Given the description of an element on the screen output the (x, y) to click on. 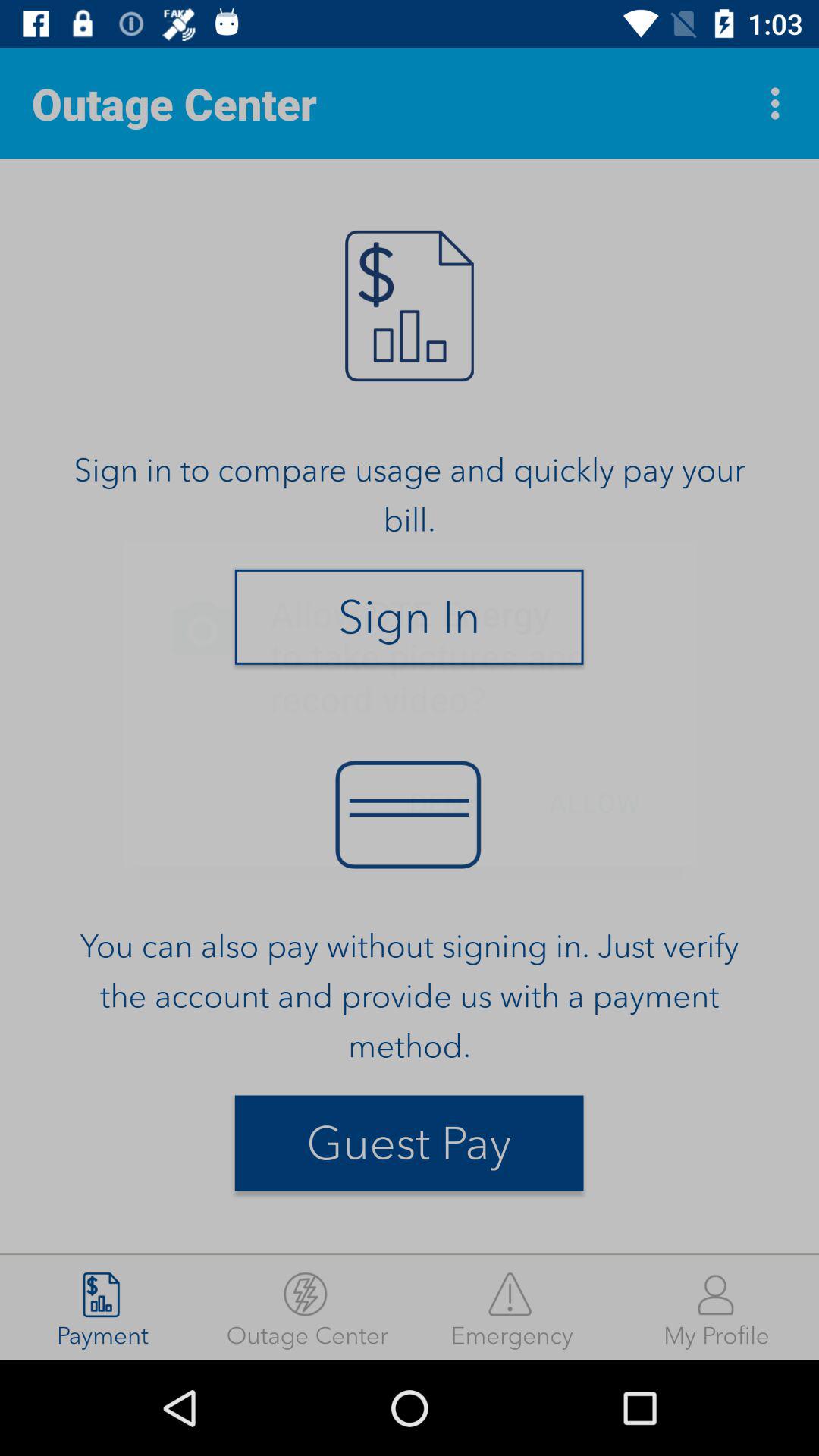
choose item at the top right corner (779, 103)
